Given the description of an element on the screen output the (x, y) to click on. 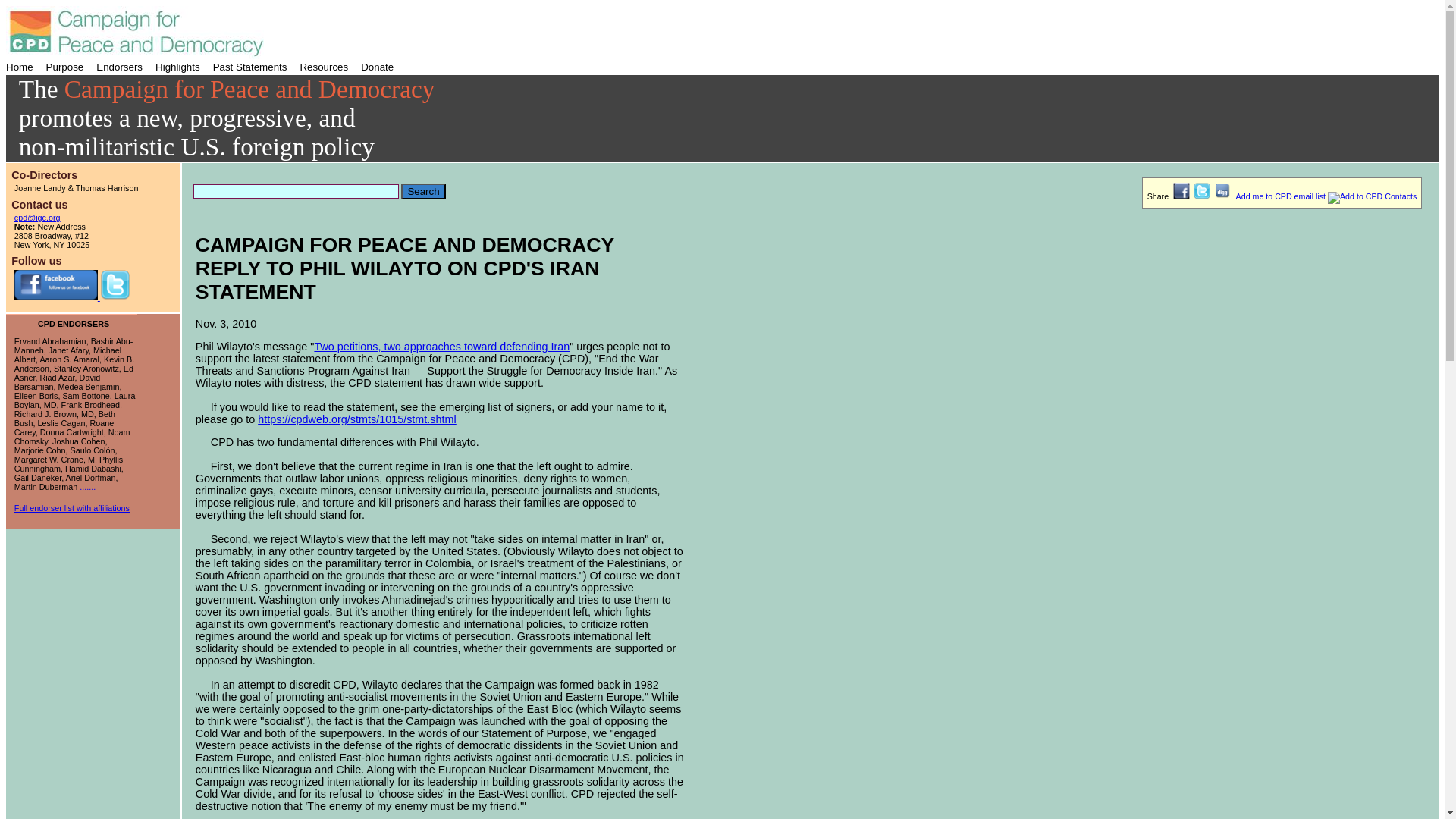
Send this page to Twitter! (1202, 195)
Two petitions, two approaches toward defending Iran (441, 346)
....... (88, 486)
Digg this page! (1223, 195)
Resources (324, 66)
Purpose (65, 66)
Share this page on Facebook! (1182, 195)
Highlights (178, 66)
Add me to CPD email list (1326, 195)
Endorsers (120, 66)
Search (423, 191)
Donate (377, 66)
Follow us on Facebook! (57, 297)
Full endorser list with affiliations (71, 507)
Add me to the CPD email list (1326, 195)
